Given the description of an element on the screen output the (x, y) to click on. 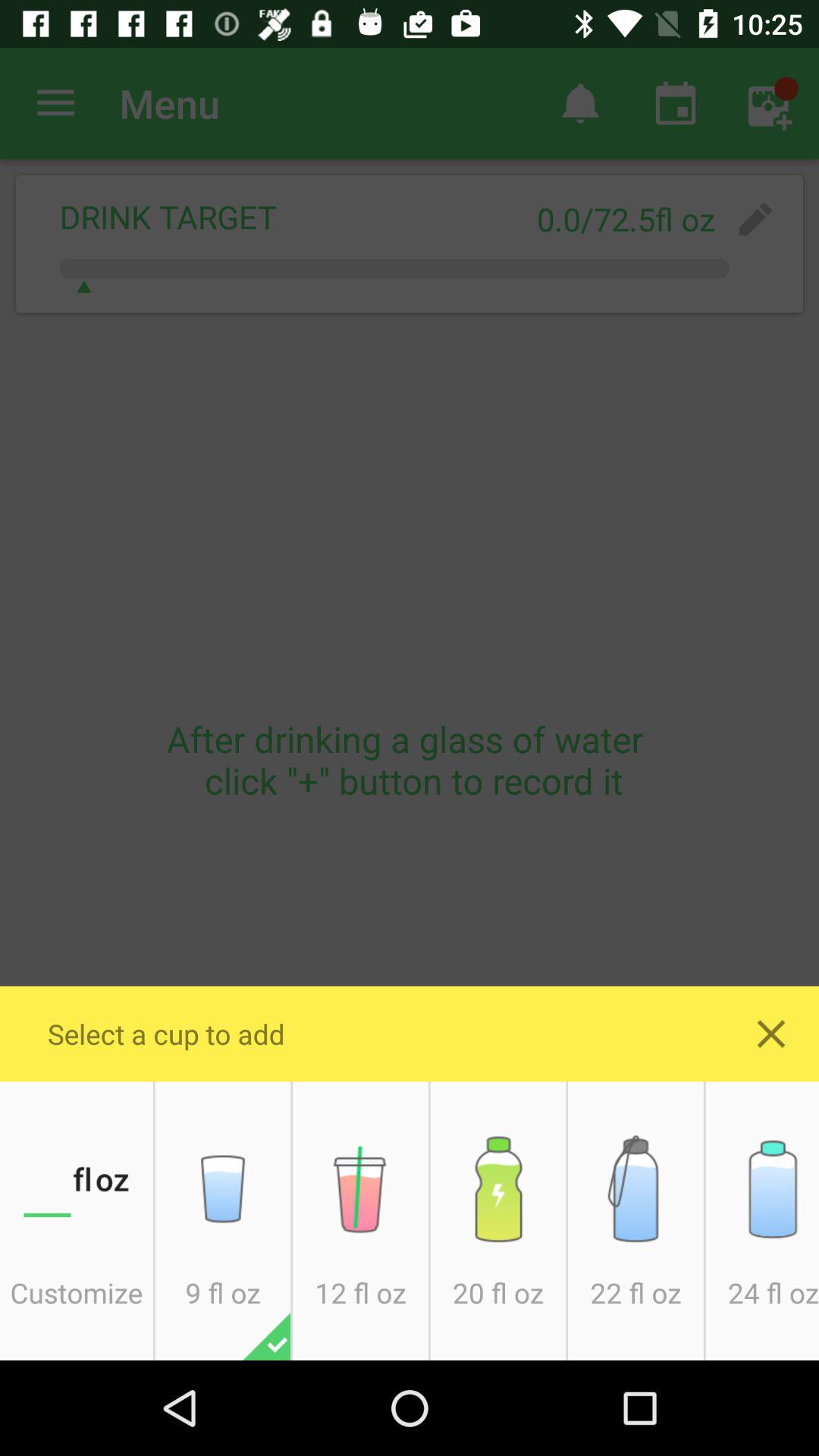
close (771, 1033)
